Given the description of an element on the screen output the (x, y) to click on. 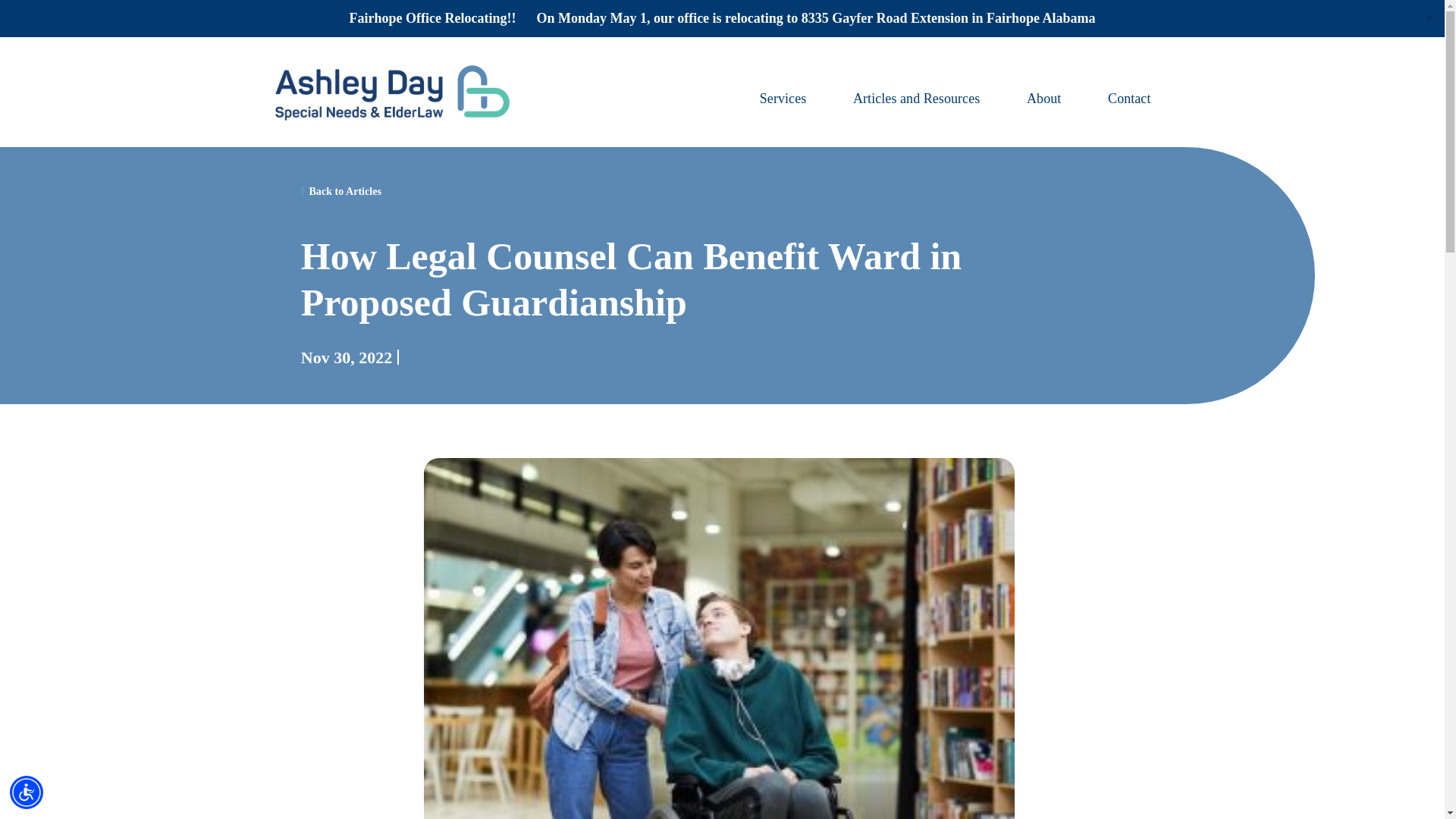
Guardianships (456, 357)
Services (782, 98)
Nov 30, 2022 (346, 357)
Accessibility Menu (26, 792)
Contact (1128, 98)
About (1042, 98)
Back to Articles (341, 190)
Articles and Resources (916, 98)
